Given the description of an element on the screen output the (x, y) to click on. 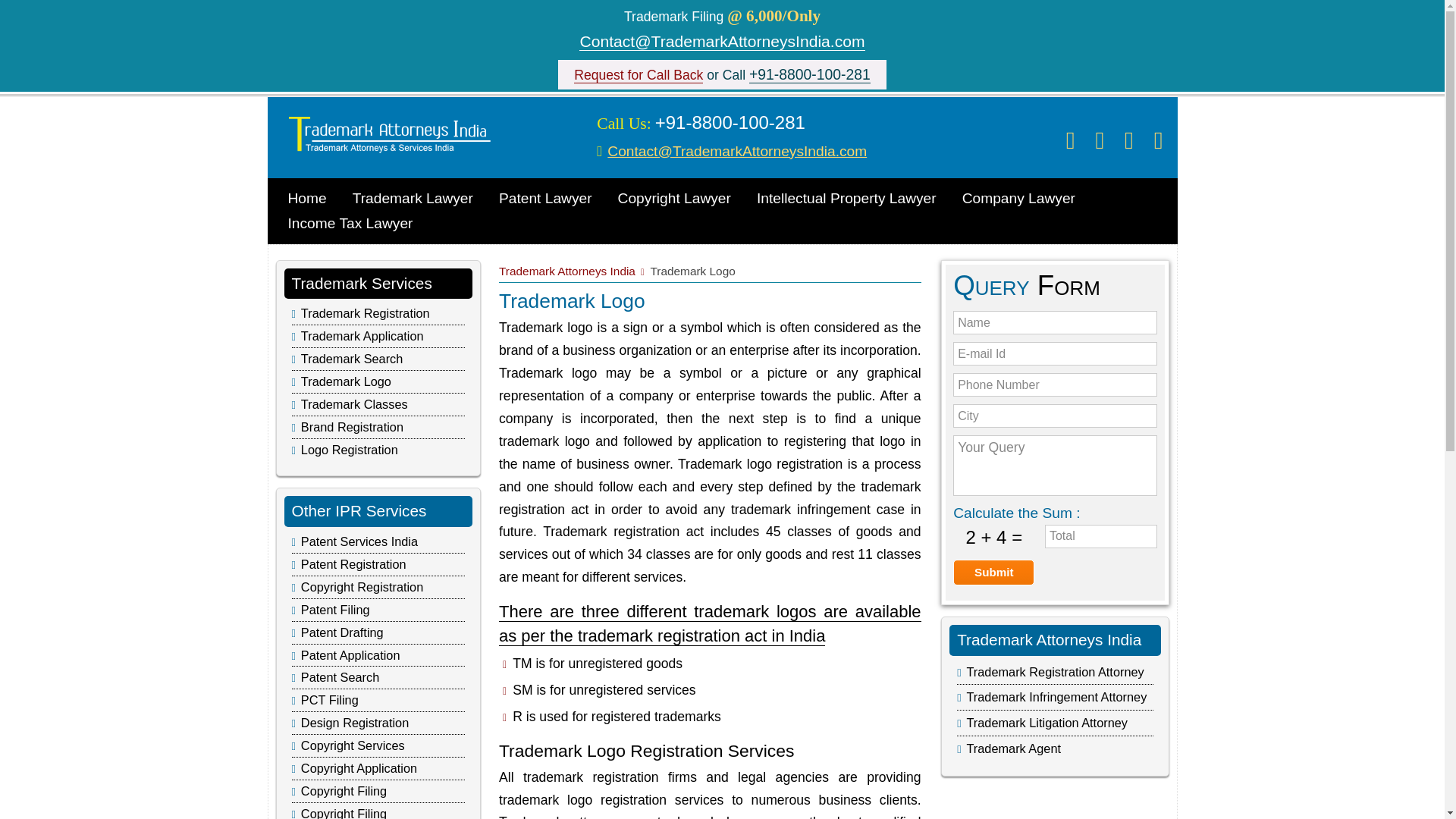
Trademark Services (360, 282)
Income Tax Lawyer (349, 222)
Total (1101, 535)
Trademark Registration Attorney (1054, 671)
Brand Registration (352, 427)
Logo Registration (349, 449)
Trademark Registration (365, 313)
Patent Filing (335, 609)
Trademark Logo (346, 381)
Trademark Attorneys India (566, 269)
Patent Registration (353, 563)
Phone Number (1054, 384)
Trademark Classes (354, 404)
Trademark Application (362, 336)
Copyright Registration (362, 586)
